Given the description of an element on the screen output the (x, y) to click on. 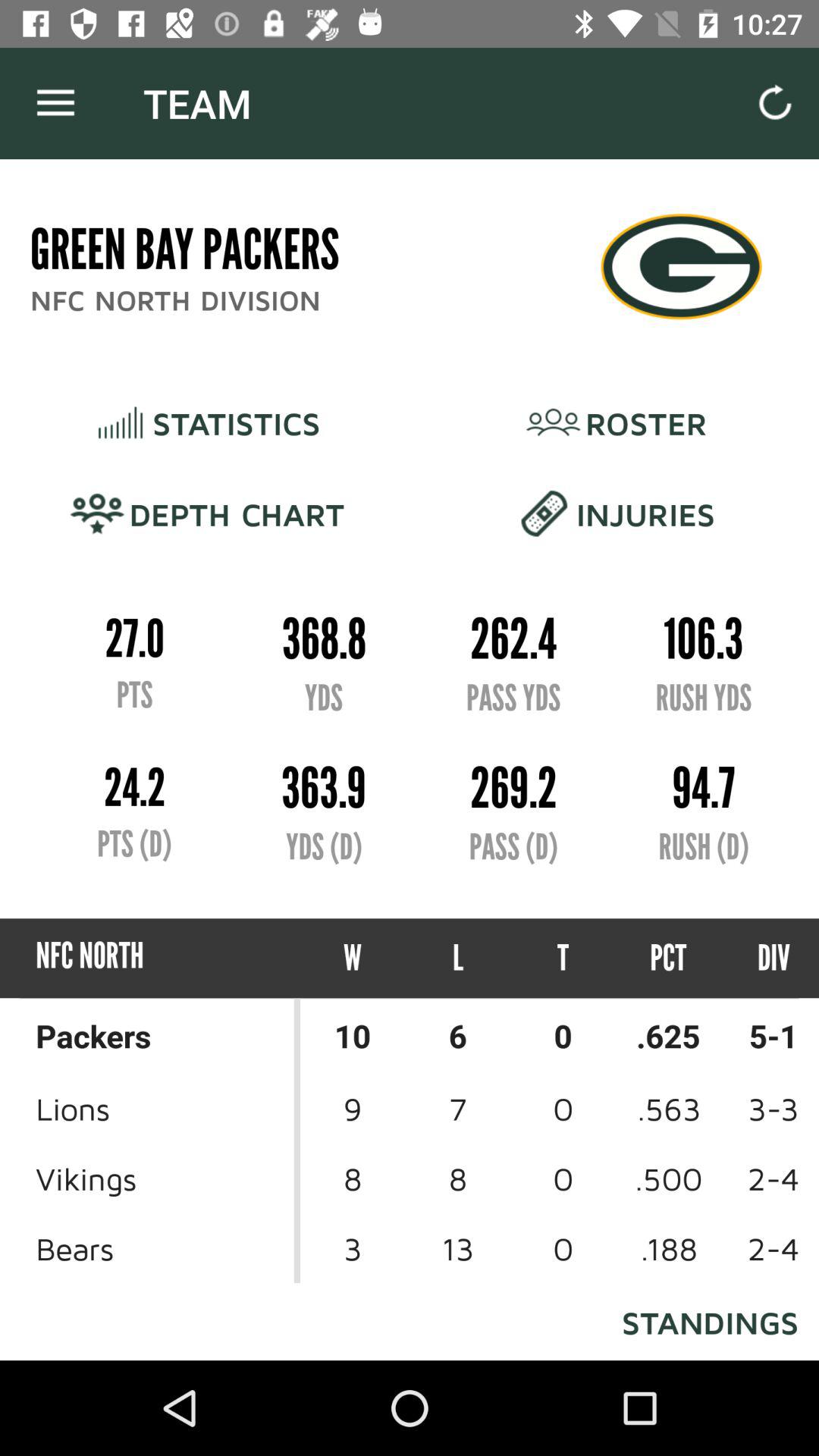
scroll until the div item (760, 958)
